Given the description of an element on the screen output the (x, y) to click on. 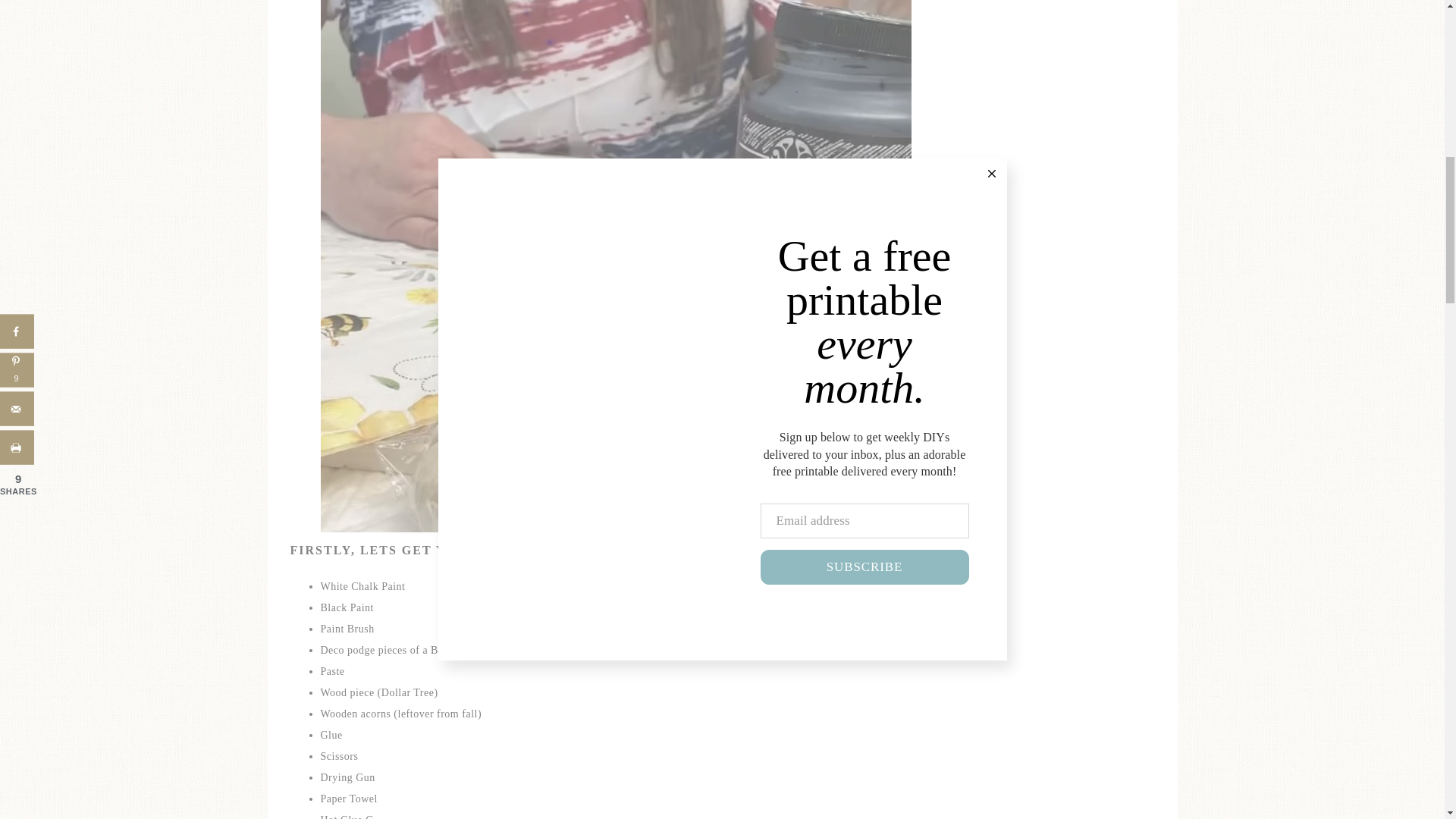
Here (533, 650)
